Given the description of an element on the screen output the (x, y) to click on. 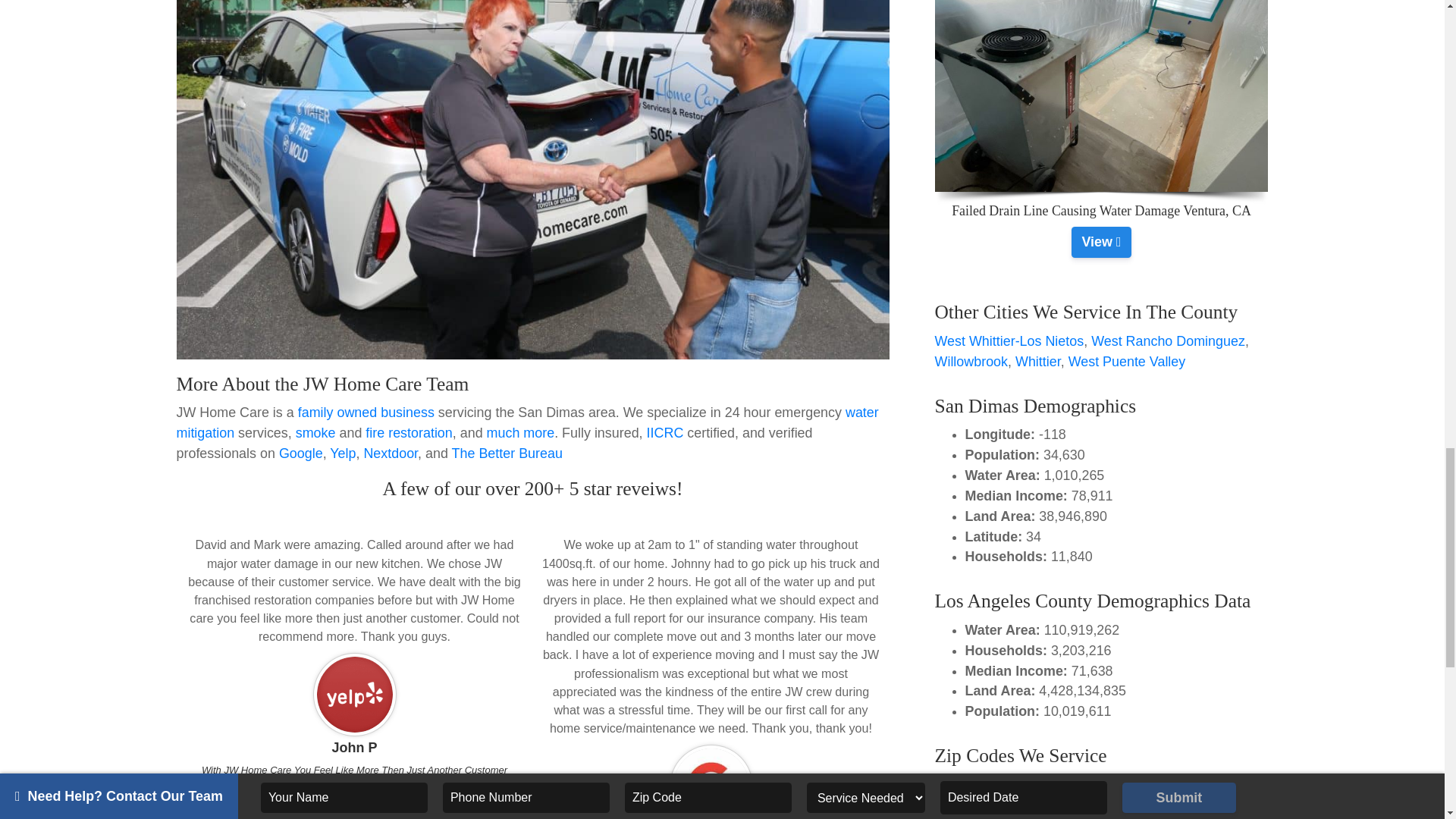
Failed Drain Line Causing Water Damage Ventura, CA (1101, 241)
